Given the description of an element on the screen output the (x, y) to click on. 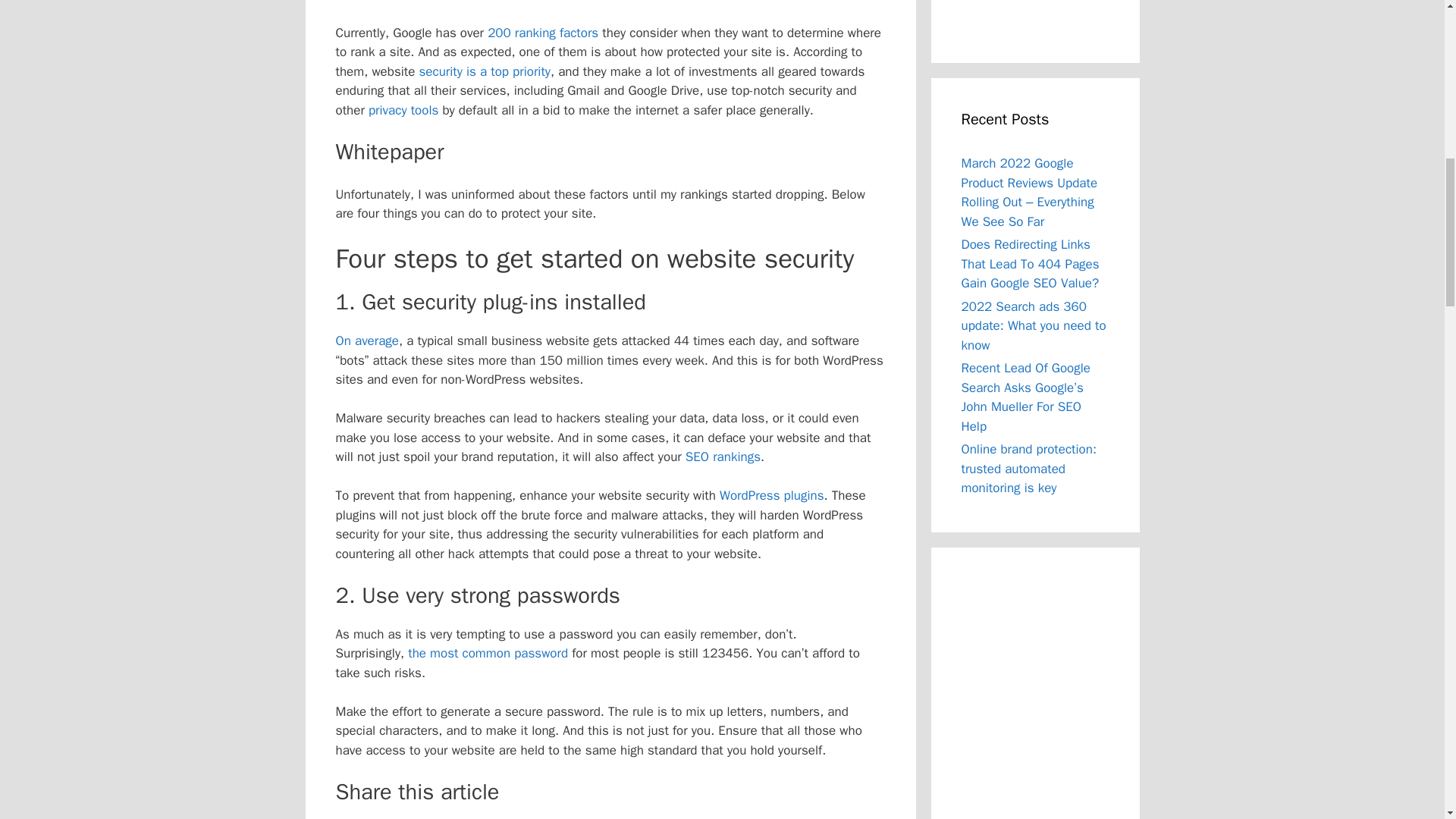
the most common password (487, 652)
security is a top priority (484, 71)
On average (366, 340)
WordPress plugins (771, 495)
privacy tools (403, 109)
SEO rankings (722, 456)
200 ranking factors (542, 32)
